Given the description of an element on the screen output the (x, y) to click on. 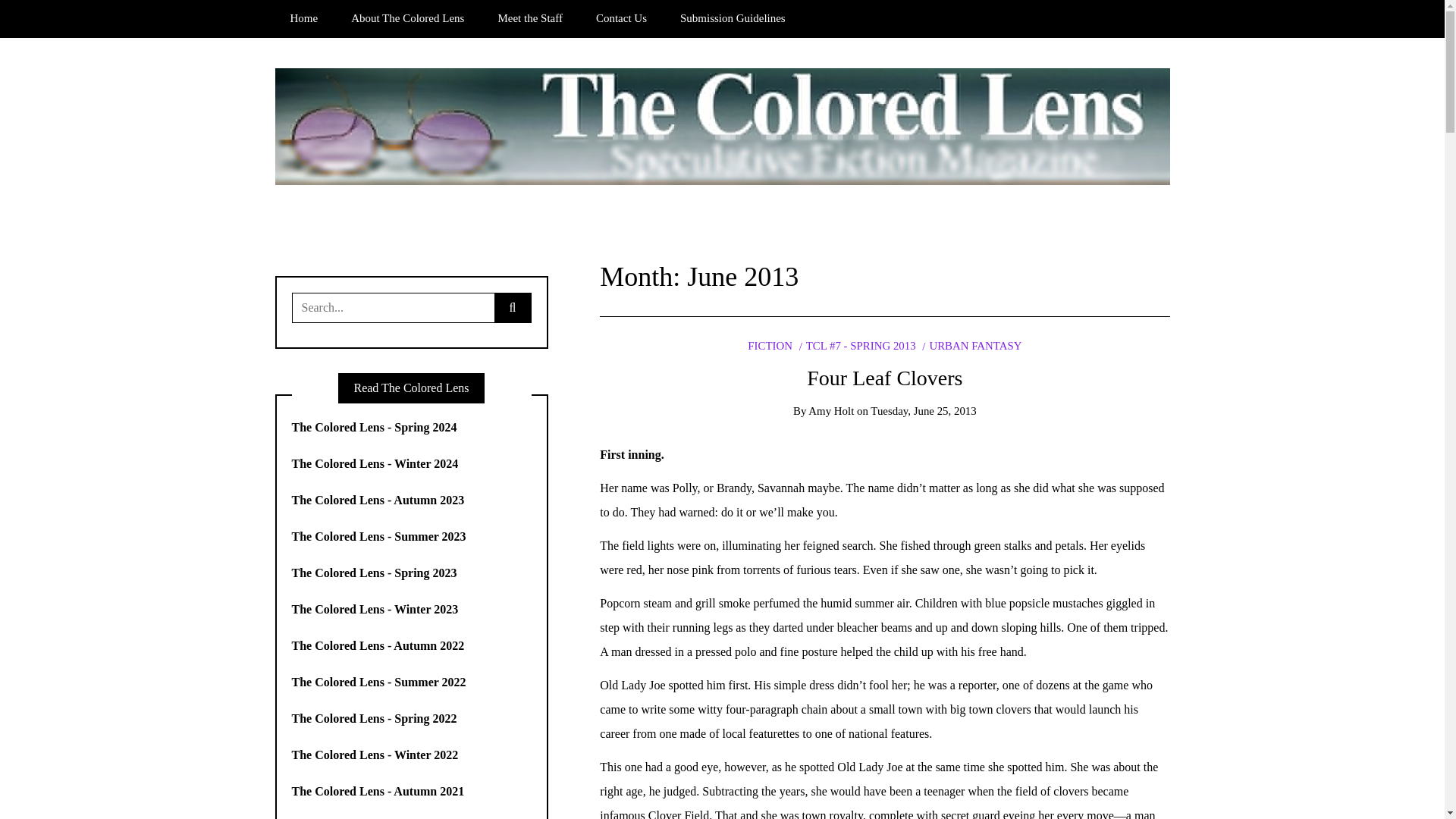
Four Leaf Clovers (884, 377)
Tuesday, June 25, 2013 (922, 410)
Home (304, 18)
Contact Us (621, 18)
Meet the Staff (529, 18)
FICTION (770, 345)
Submission Guidelines (732, 18)
About The Colored Lens (407, 18)
Amy Holt (830, 410)
Posts by Amy Holt (830, 410)
URBAN FANTASY (971, 345)
